Given the description of an element on the screen output the (x, y) to click on. 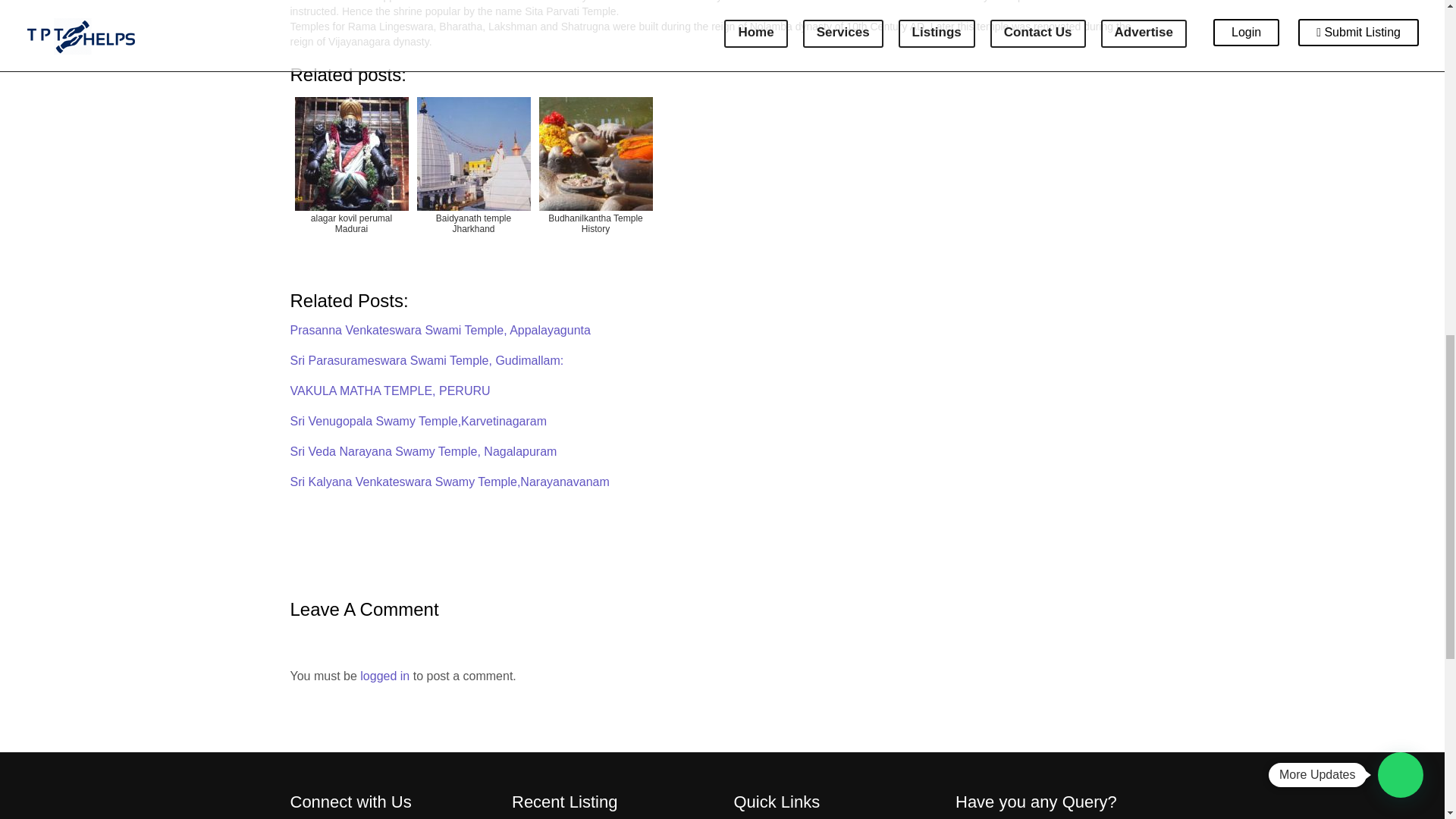
Sri Kalyana Venkateswara Swamy Temple,Narayanavanam (448, 481)
logged in (384, 675)
Sri Veda Narayana Swamy Temple, Nagalapuram (422, 451)
Sri Parasurameswara Swami Temple, Gudimallam: (426, 359)
Prasanna Venkateswara Swami Temple, Appalayagunta (439, 329)
Sri Venugopala Swamy Temple,Karvetinagaram (418, 420)
VAKULA MATHA TEMPLE, PERURU (389, 390)
